Given the description of an element on the screen output the (x, y) to click on. 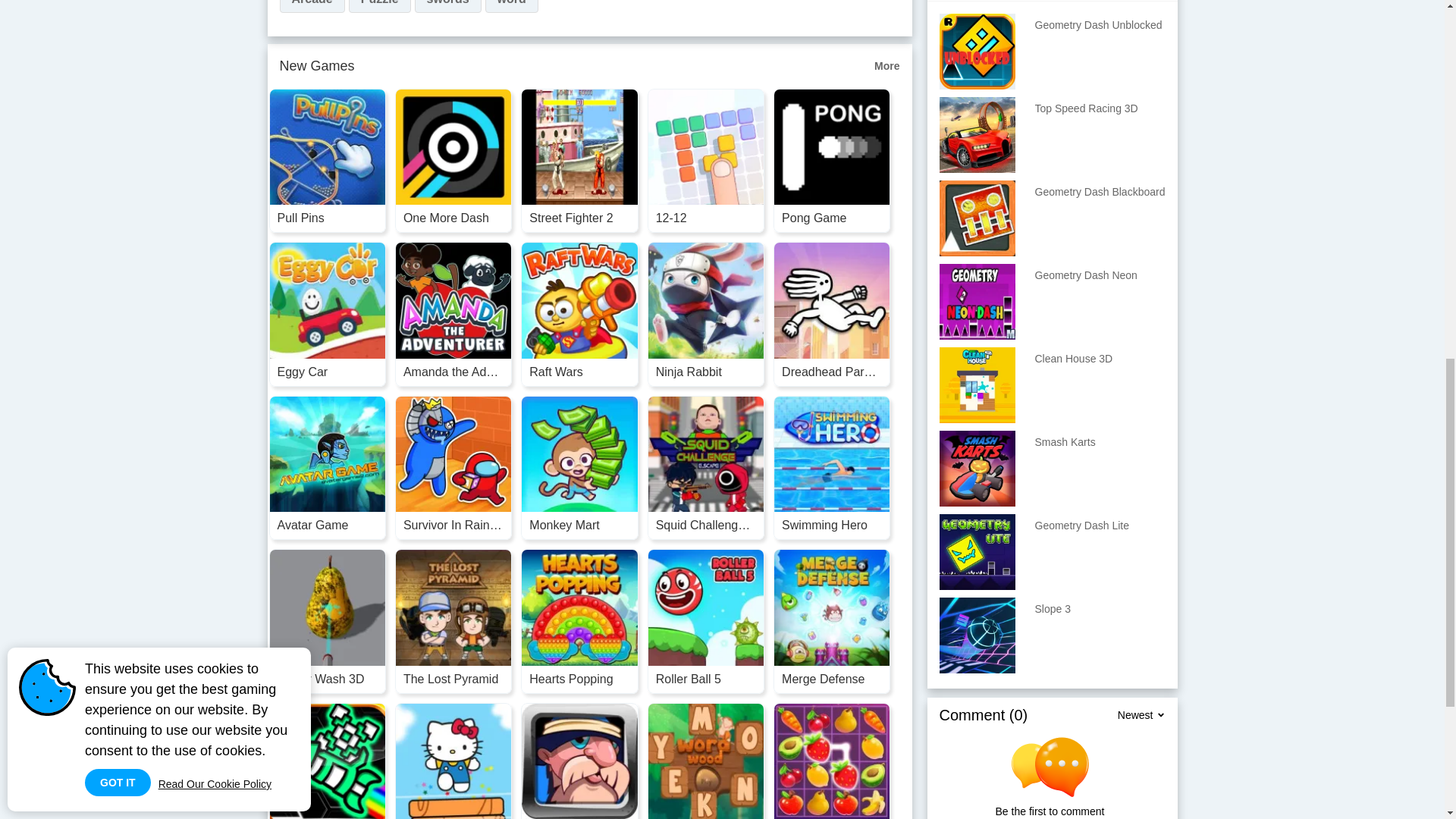
swords (447, 6)
Word Wood (705, 760)
word (511, 6)
Puzzle (379, 6)
Fruit Mahjong (831, 760)
Hello Kitty And Friends Jumper (453, 760)
Arcade (311, 6)
Be the first to comment (1055, 778)
Puzzle (379, 6)
word (511, 6)
More (887, 66)
Geometry Dash Fractured Circles (326, 760)
swords (447, 6)
Arcade (311, 6)
Castle Defense (579, 760)
